Given the description of an element on the screen output the (x, y) to click on. 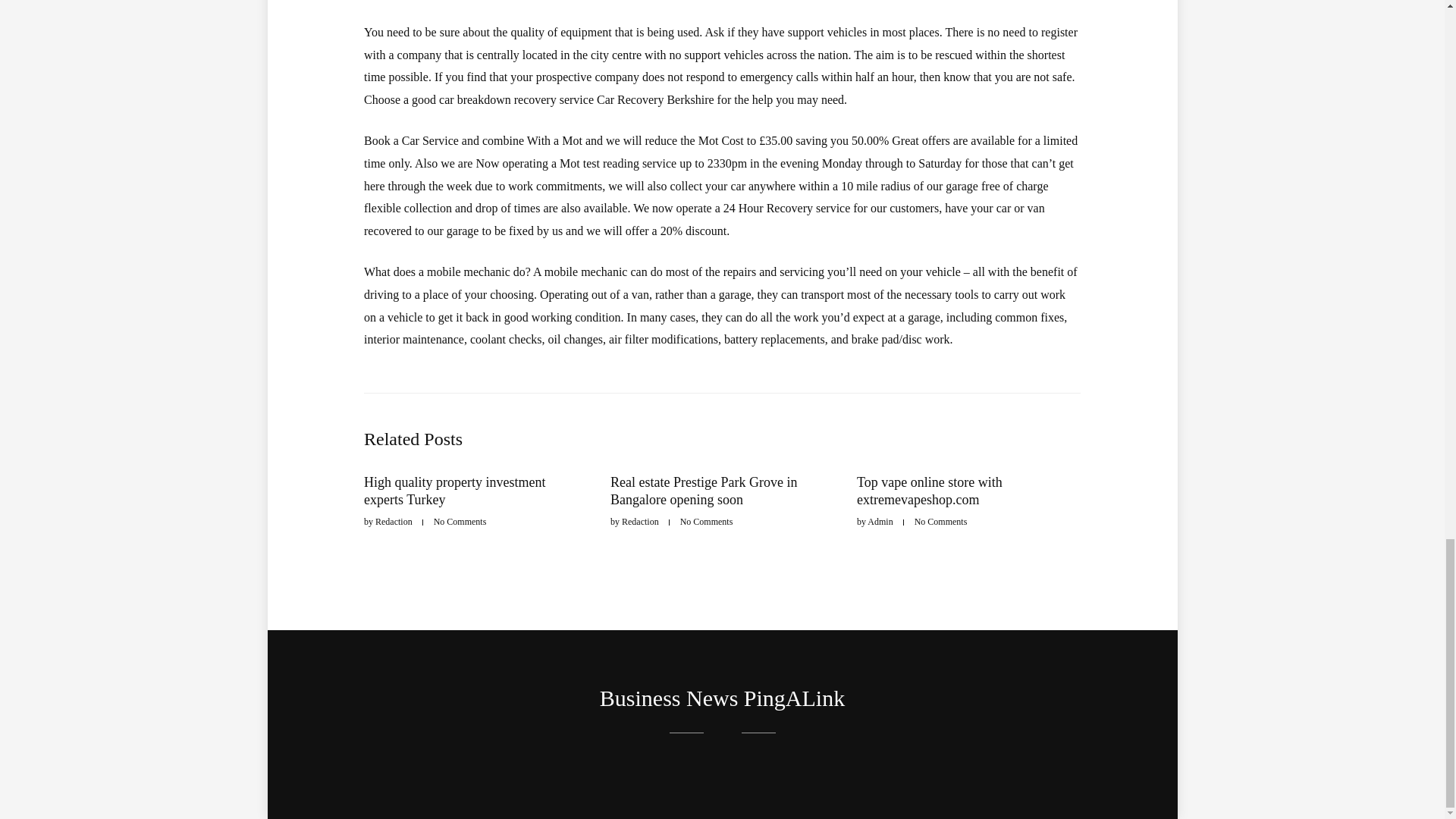
Top vape online store with extremevapeshop.com (930, 490)
High quality property investment experts Turkey (454, 490)
Real estate Prestige Park Grove in Bangalore opening soon (703, 490)
